Given the description of an element on the screen output the (x, y) to click on. 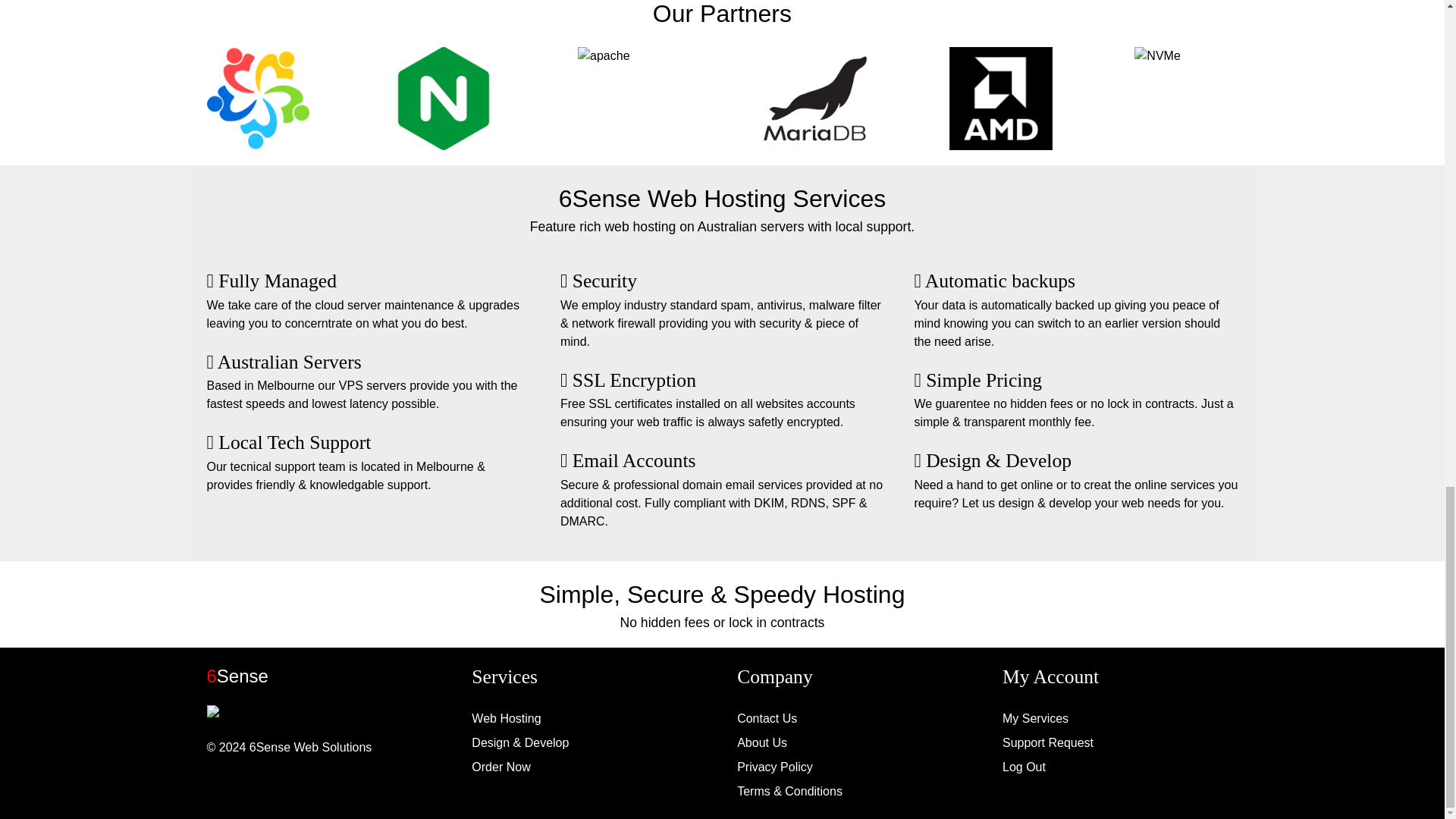
About Us (761, 742)
Web Hosting (505, 717)
Order Now (500, 766)
Log Out (1024, 766)
My Services (1035, 717)
Privacy Policy (774, 766)
Support Request (1048, 742)
Contact Us (766, 717)
